Given the description of an element on the screen output the (x, y) to click on. 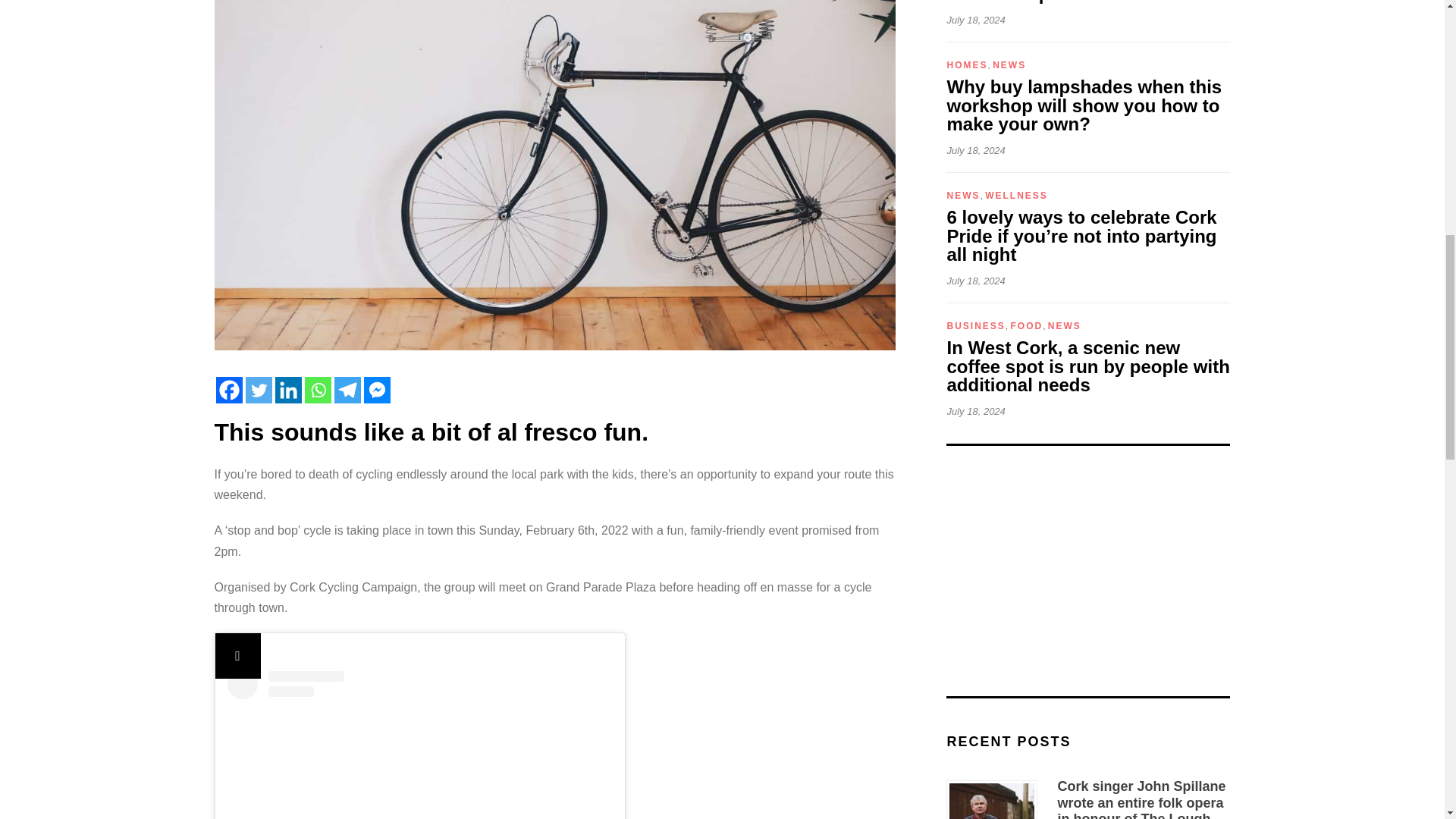
Twitter (259, 389)
Telegram (346, 389)
Facebook (228, 389)
Linkedin (288, 389)
Whatsapp (317, 389)
